Given the description of an element on the screen output the (x, y) to click on. 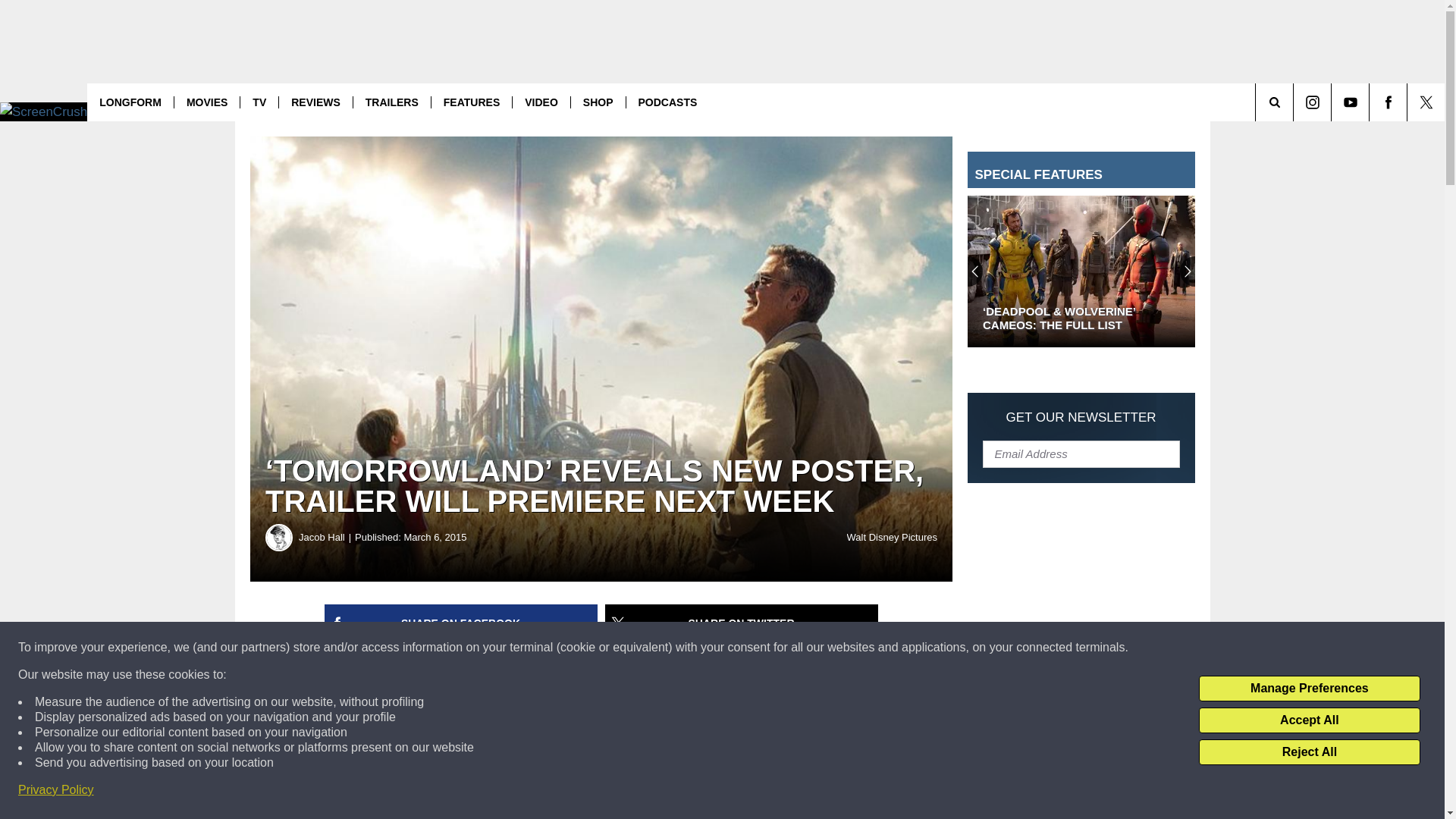
Share on Twitter (741, 623)
Email Address (1080, 452)
SEARCH (1295, 102)
SEARCH (1295, 102)
Super Bowl spot (595, 774)
Privacy Policy (55, 789)
Visit us on Instagram (1312, 102)
SHOP (598, 102)
a mysterious teaser (640, 762)
Jacob Hall (278, 537)
LONGFORM (130, 102)
SHARE ON FACEBOOK (460, 623)
Visit us on Youtube (1350, 102)
SHARE ON TWITTER (741, 623)
TRAILERS (391, 102)
